Given the description of an element on the screen output the (x, y) to click on. 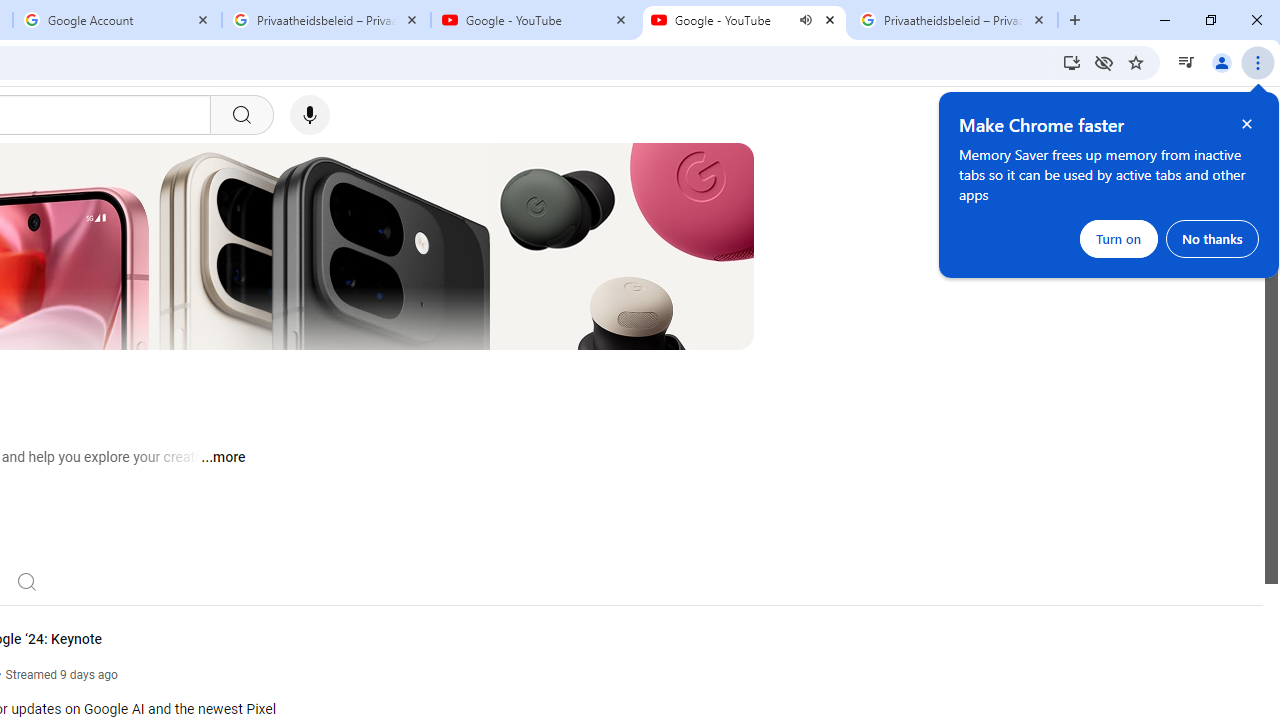
Google Account (116, 20)
Close help bubble (1247, 124)
Google - YouTube (535, 20)
Install YouTube (1071, 62)
No thanks (1212, 238)
Google - YouTube - Audio playing (744, 20)
